Given the description of an element on the screen output the (x, y) to click on. 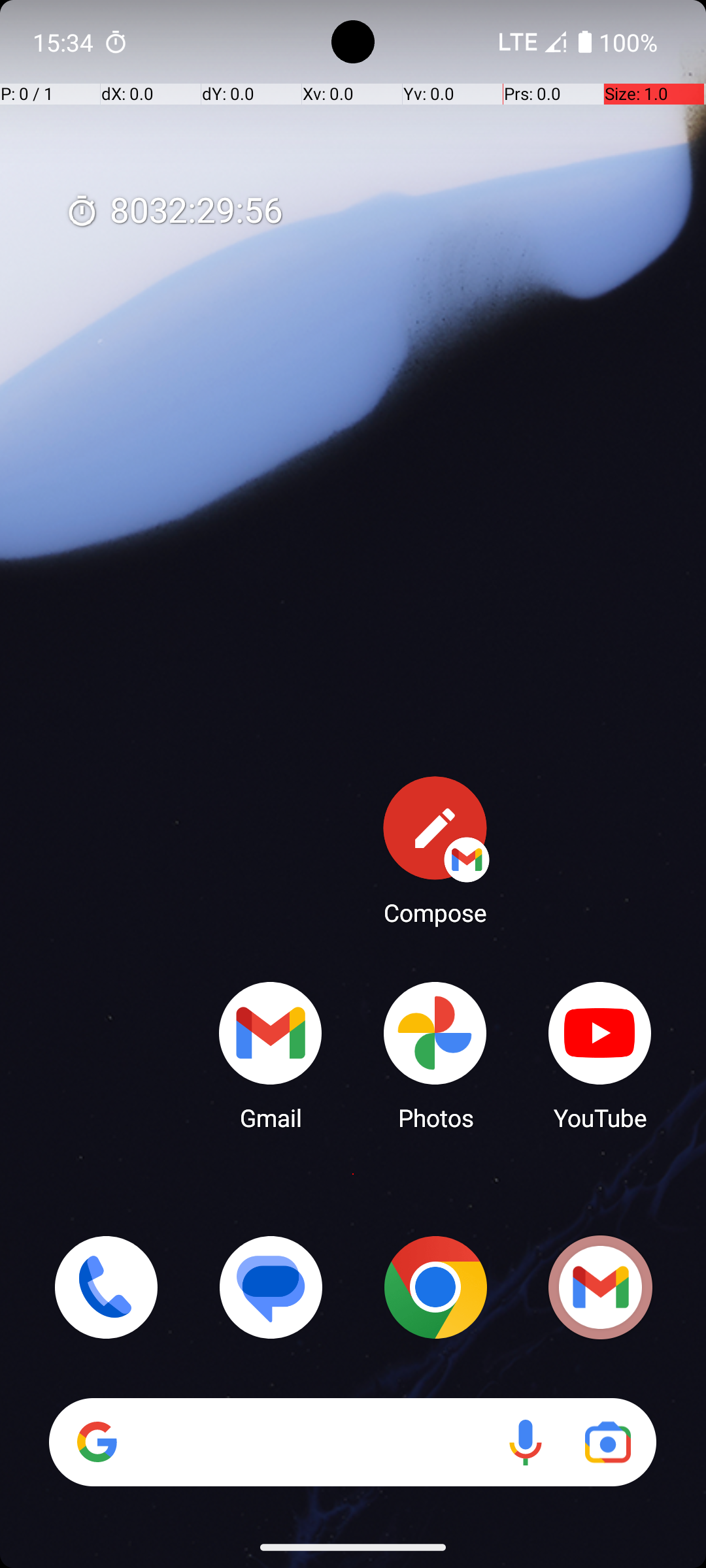
8032:29:56 Element type: android.widget.TextView (173, 210)
